Given the description of an element on the screen output the (x, y) to click on. 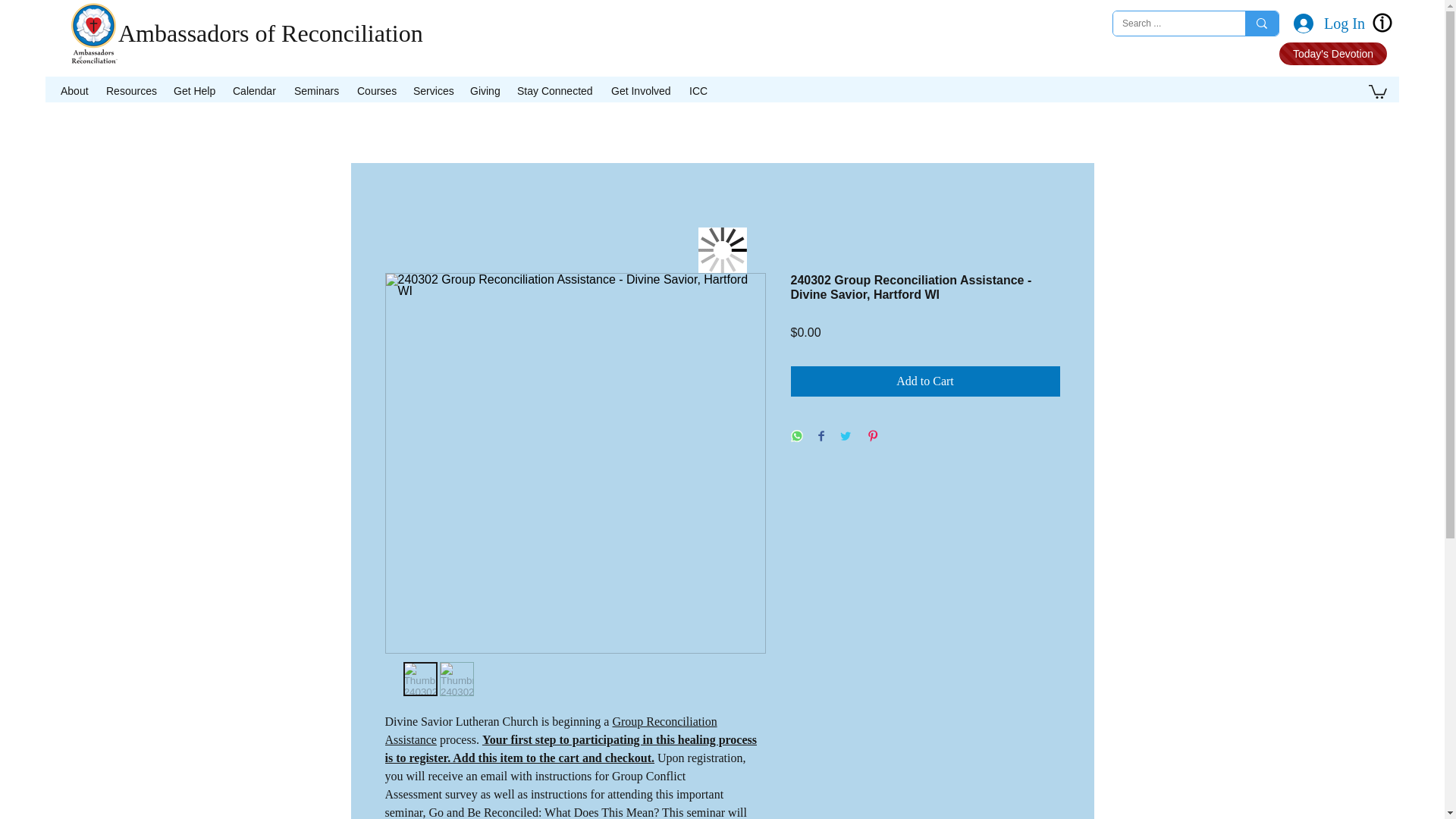
Facebook Like (1196, 56)
See HowTo Login Video (1382, 22)
